Given the description of an element on the screen output the (x, y) to click on. 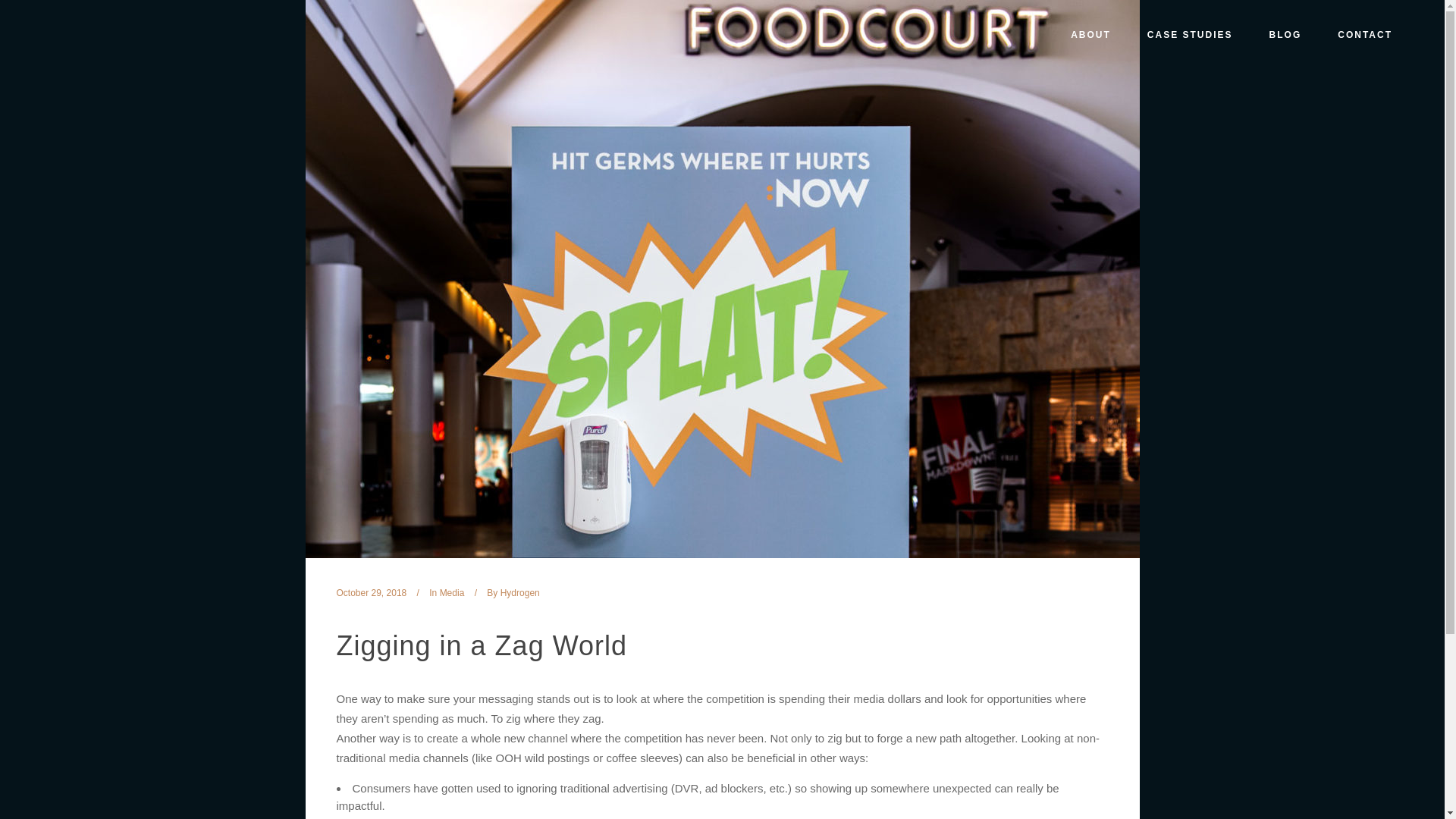
CASE STUDIES (1189, 34)
Hydrogen (520, 593)
BLOG (1285, 34)
Facebook (40, 705)
New business inquiries (103, 612)
CONTACT (1364, 34)
LinkedIn (78, 705)
Media (451, 593)
ABOUT (1090, 34)
Instagram (59, 705)
